Given the description of an element on the screen output the (x, y) to click on. 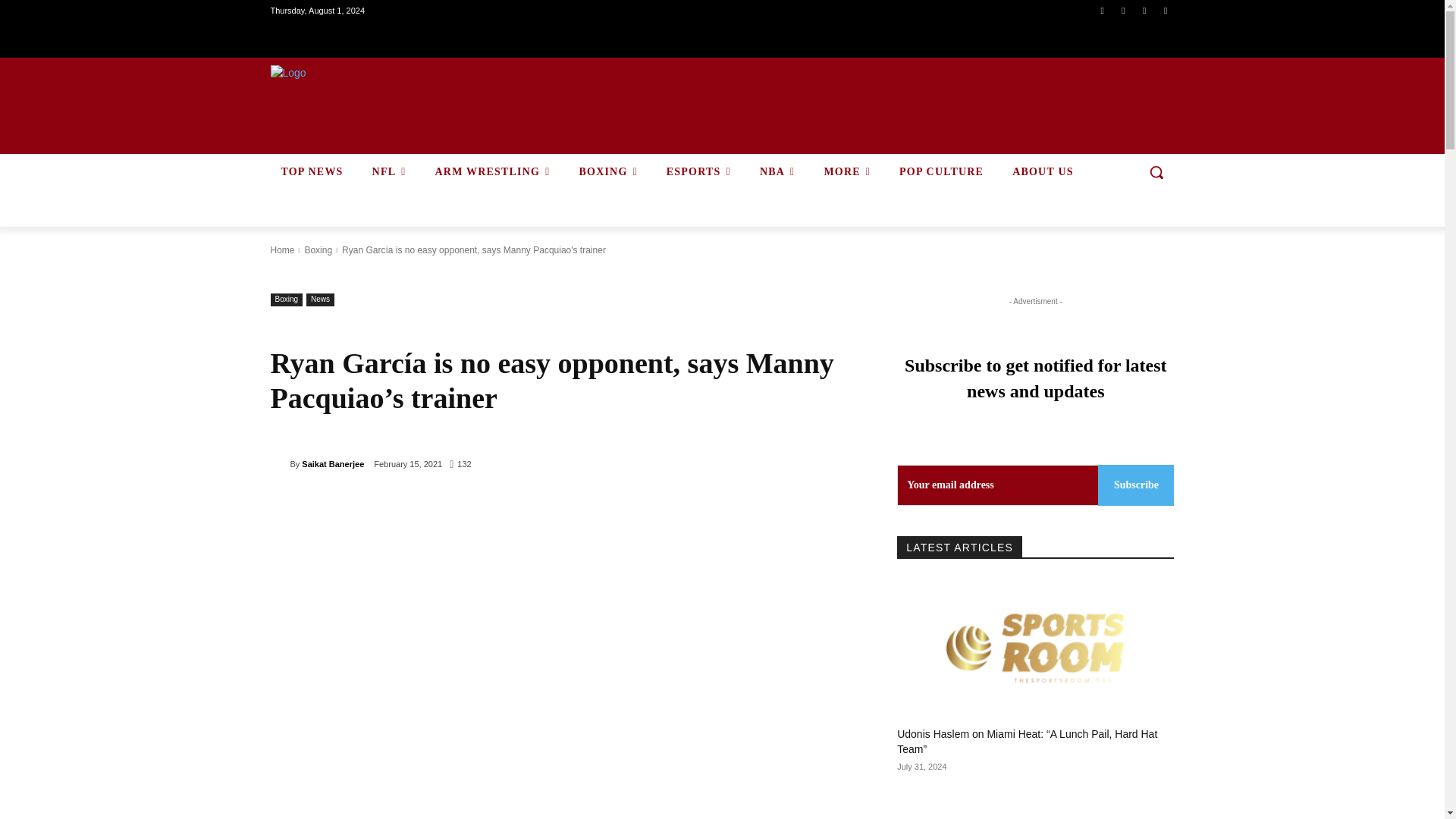
Twitter (1144, 9)
Youtube (1165, 9)
Instagram (1123, 9)
Facebook (1101, 9)
